Given the description of an element on the screen output the (x, y) to click on. 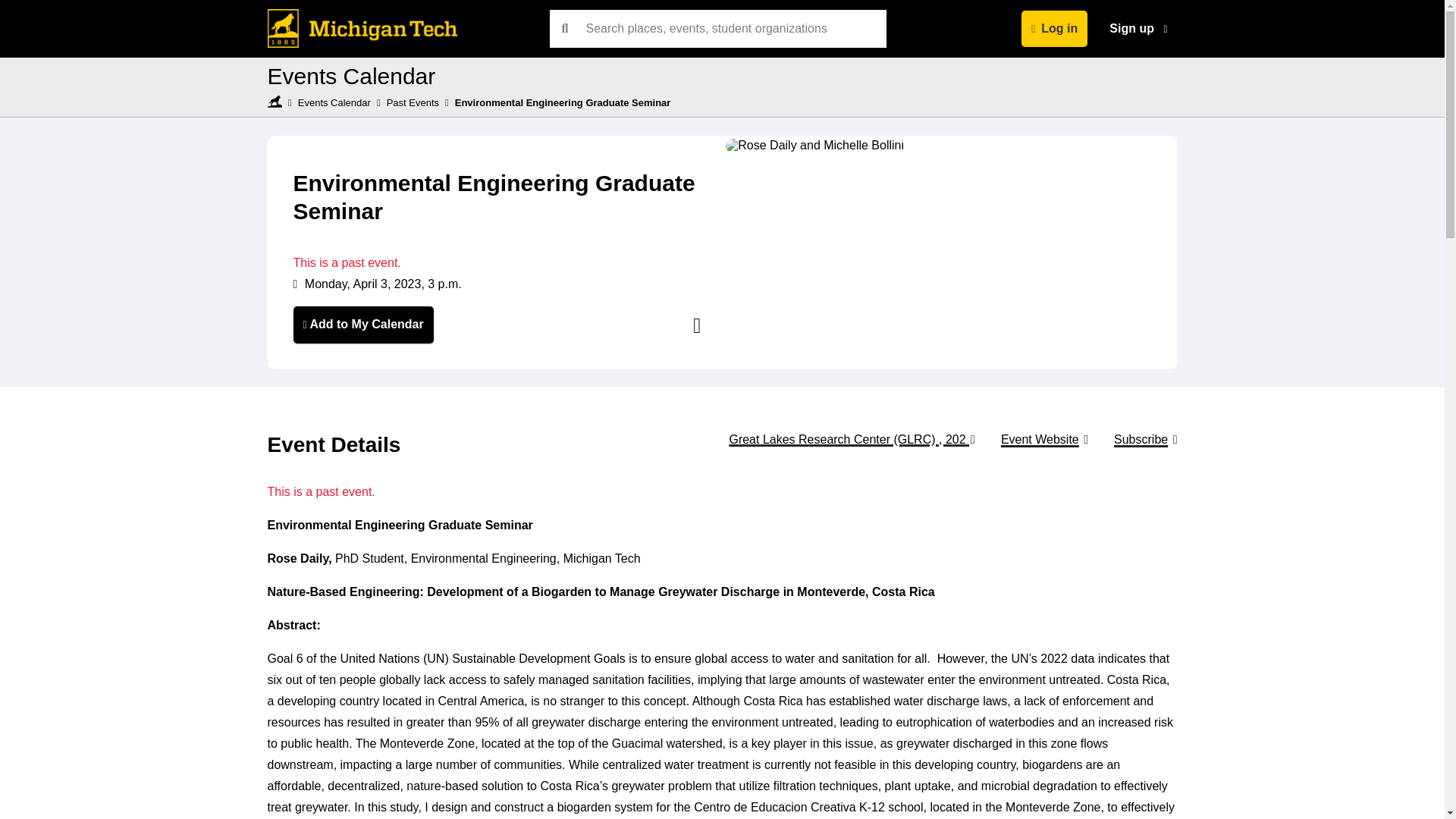
Events Calendar (350, 75)
Past Events (413, 102)
Events Calendar (334, 102)
Subscribe (1140, 438)
Michigan Tech (274, 101)
Sign up  (1137, 28)
Event Website (1039, 438)
Add to My Calendar (362, 324)
Log in (1054, 28)
